Given the description of an element on the screen output the (x, y) to click on. 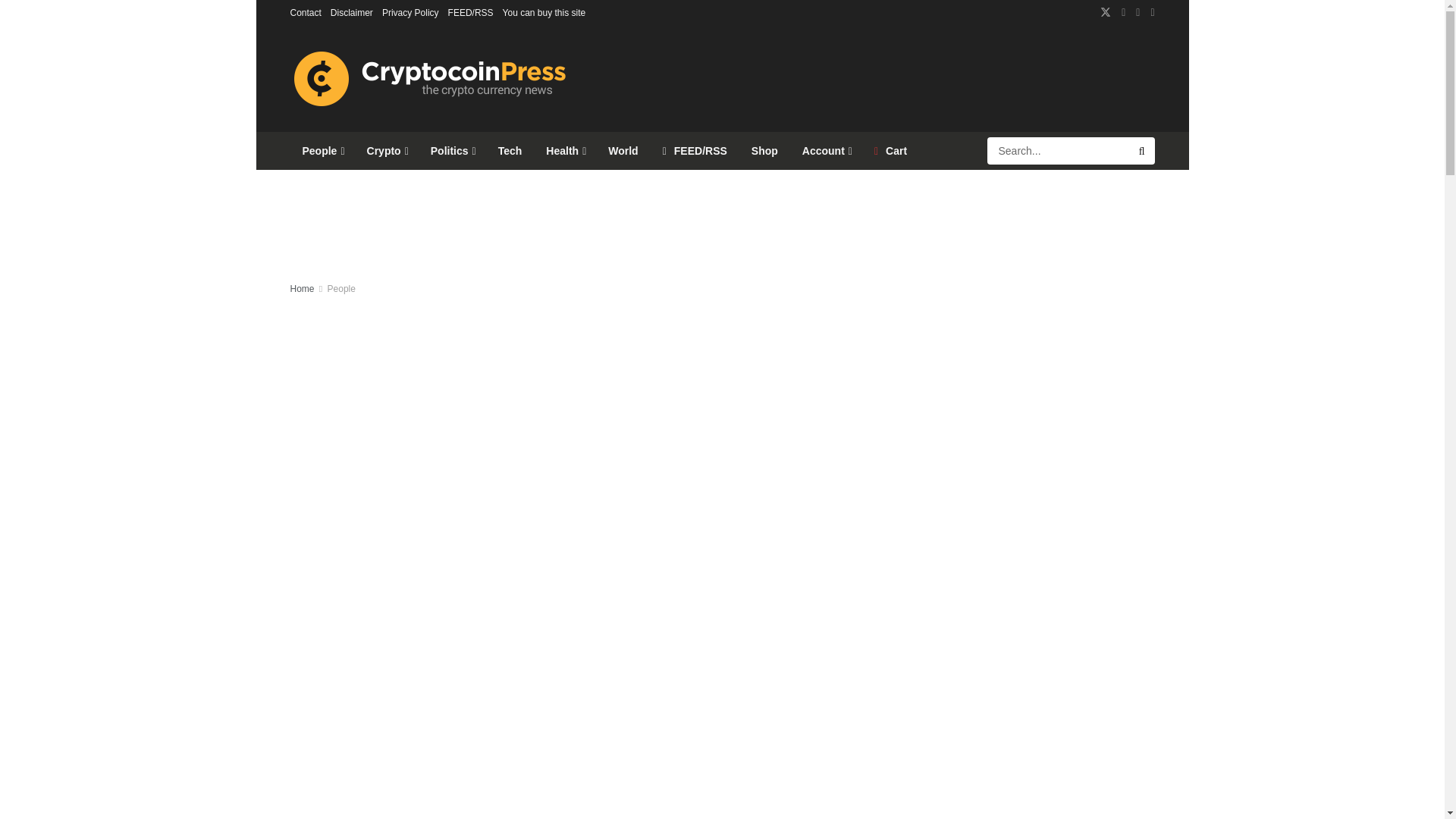
Disclaimer (351, 12)
You can buy this site (544, 12)
Privacy Policy (410, 12)
Contact (304, 12)
People (321, 150)
